Given the description of an element on the screen output the (x, y) to click on. 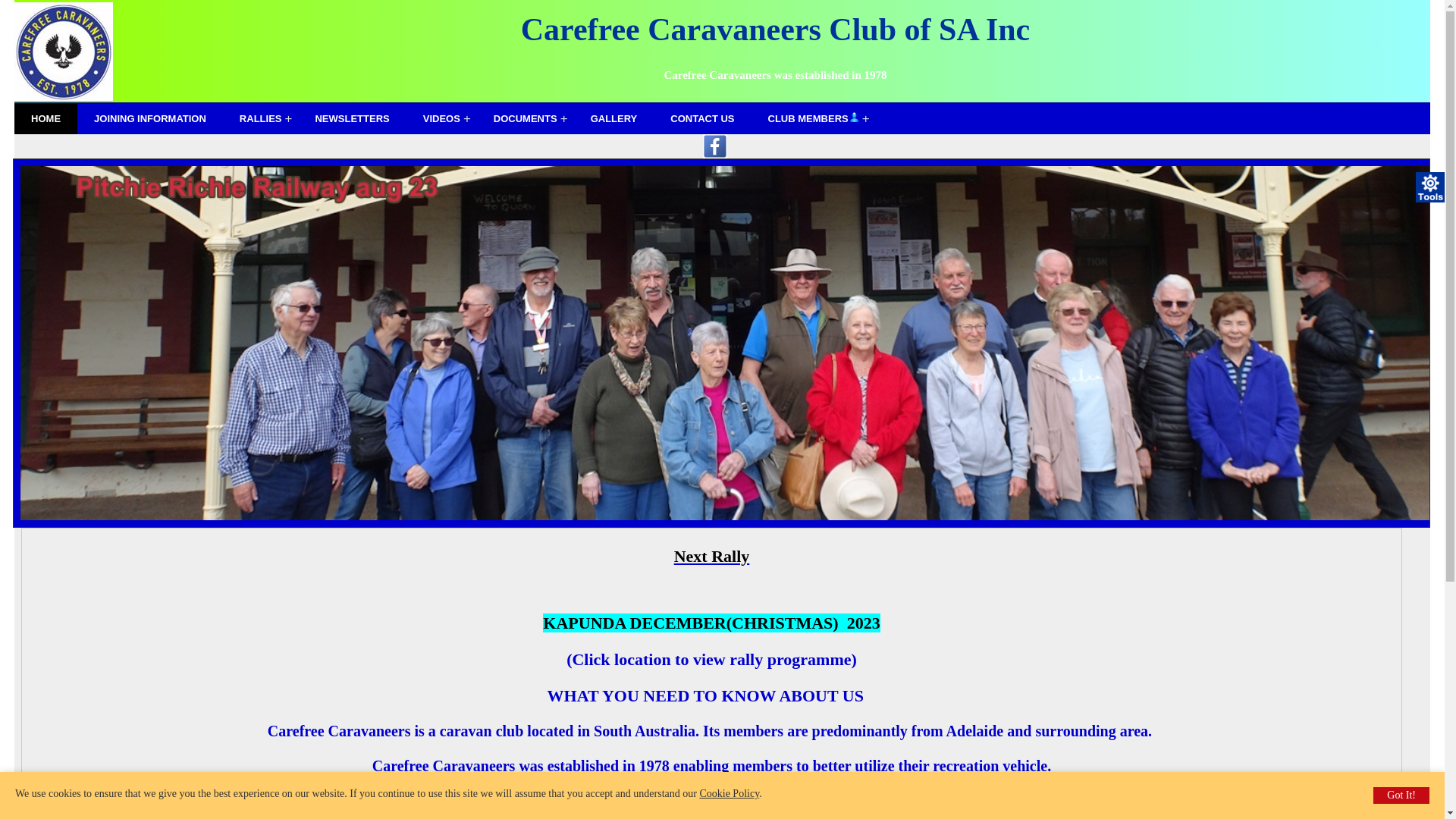
JOINING INFORMATION Element type: text (149, 118)
VIDEOS Element type: text (441, 118)
GALLERY Element type: text (614, 118)
Facebook Element type: hover (714, 153)
NEWSLETTERS Element type: text (351, 118)
CONTACT US Element type: text (701, 118)
DOCUMENTS Element type: text (525, 118)
Tools Element type: text (1430, 187)
KAPUNDA DECEMBER(CHRISTMAS)  2023 Element type: text (710, 622)
Cookie Policy Element type: text (729, 793)
HOME Element type: text (45, 118)
RALLIES Element type: text (260, 118)
Login Element type: hover (853, 116)
CLUB MEMBERS Element type: text (813, 118)
Logo Element type: hover (63, 51)
